Given the description of an element on the screen output the (x, y) to click on. 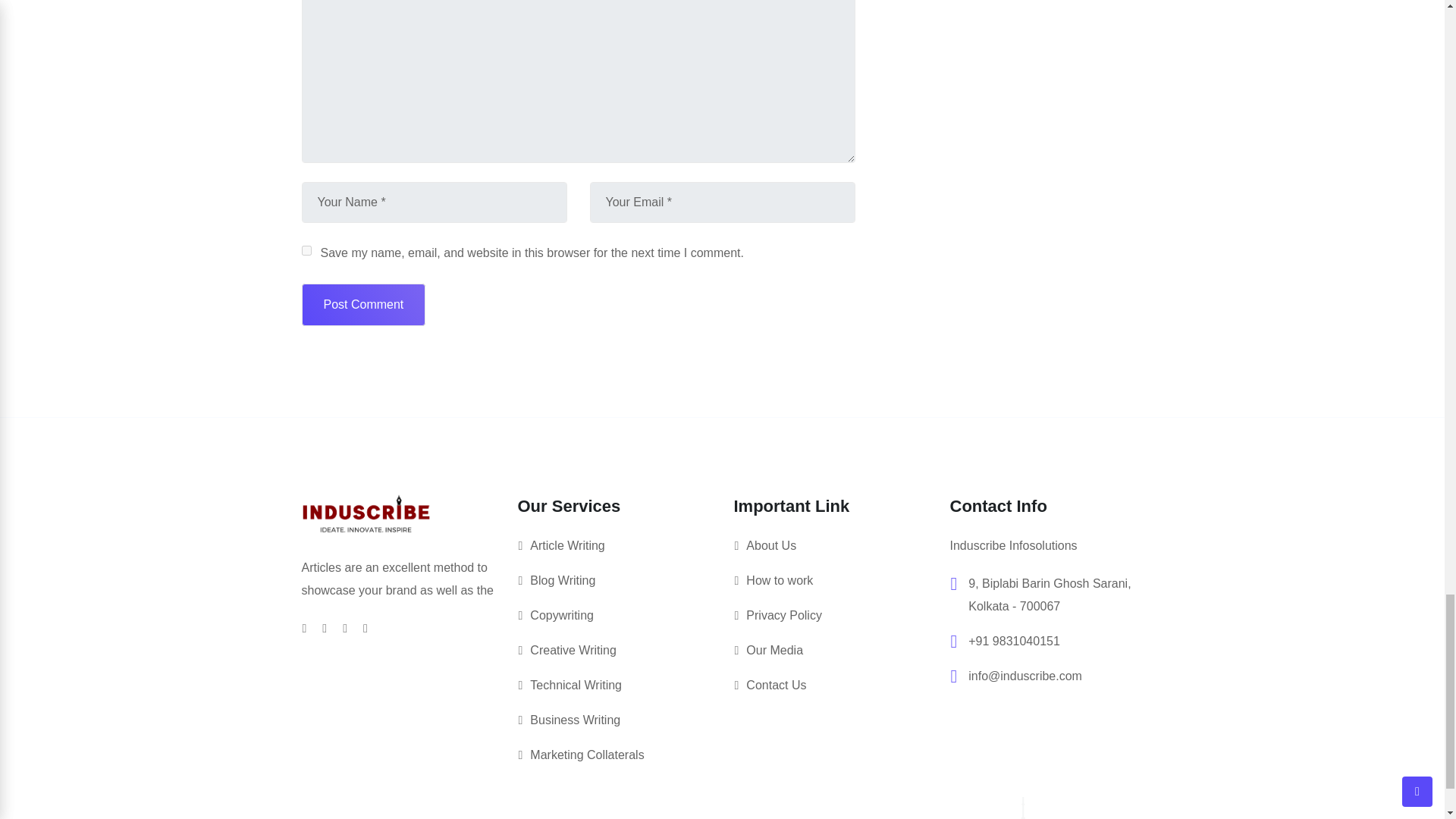
yes (306, 250)
Post Comment (363, 304)
